Given the description of an element on the screen output the (x, y) to click on. 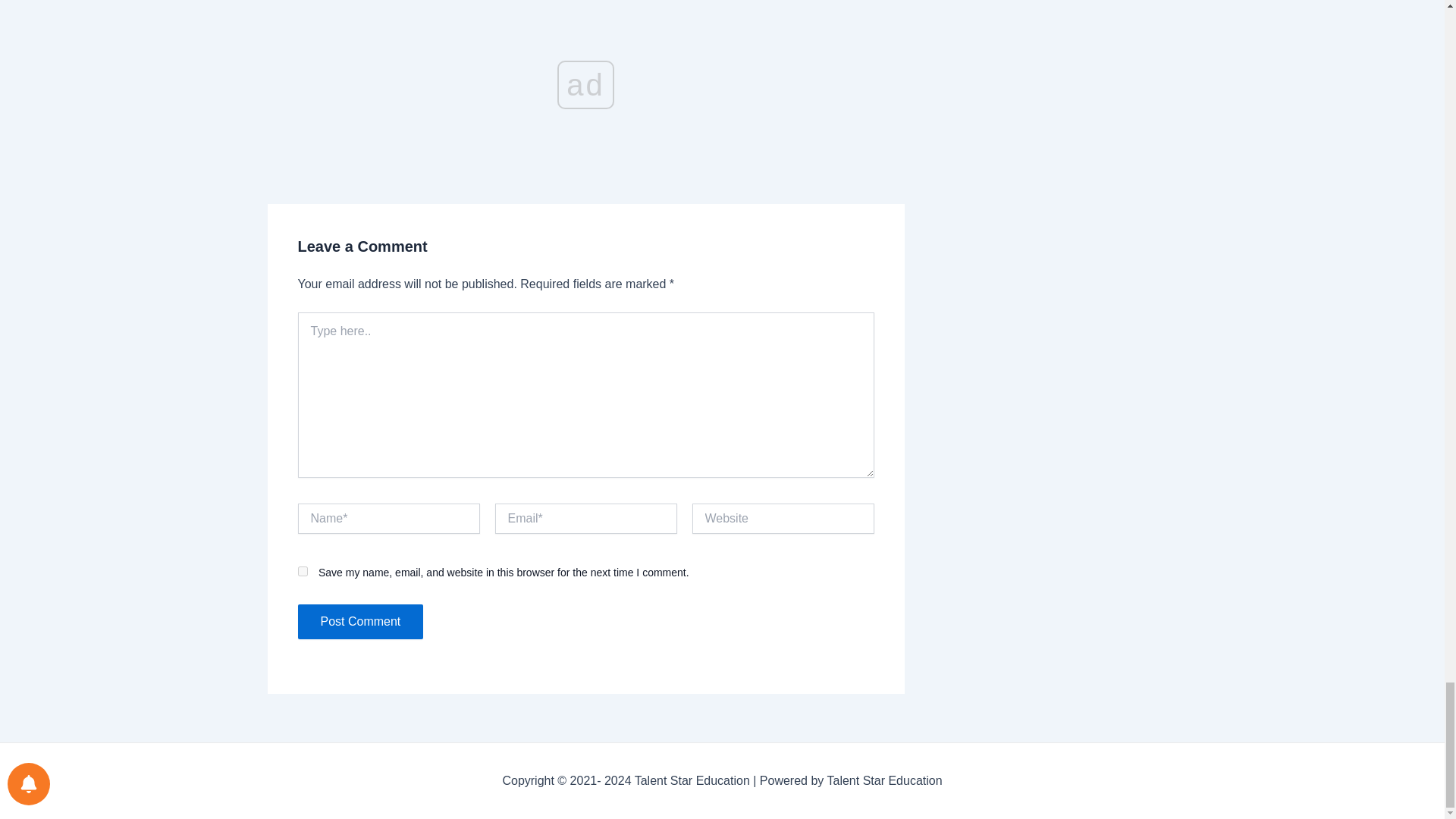
Post Comment (360, 621)
yes (302, 571)
